Given the description of an element on the screen output the (x, y) to click on. 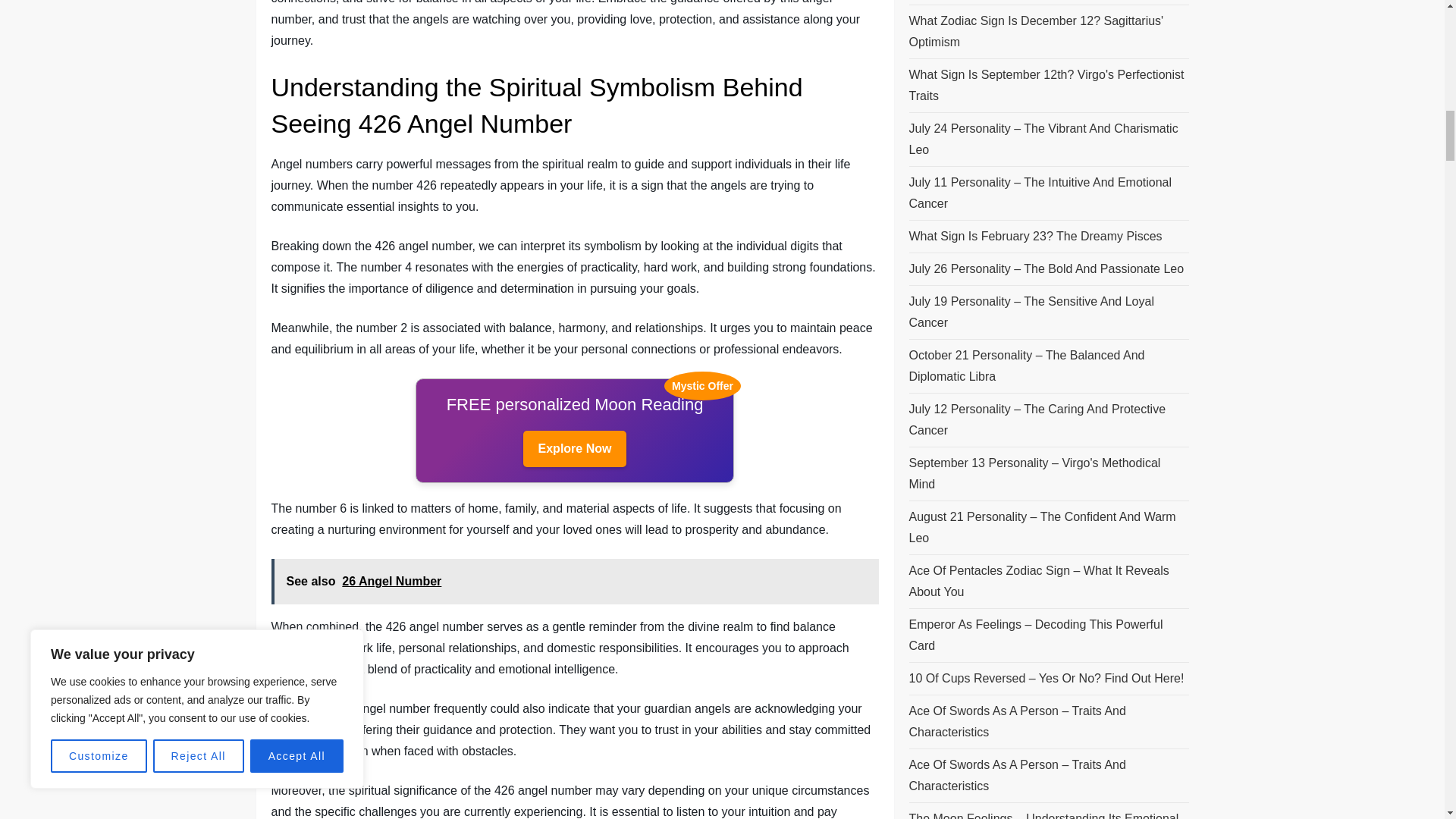
free reading (574, 448)
Explore Now (574, 448)
See also  26 Angel Number (574, 581)
